Given the description of an element on the screen output the (x, y) to click on. 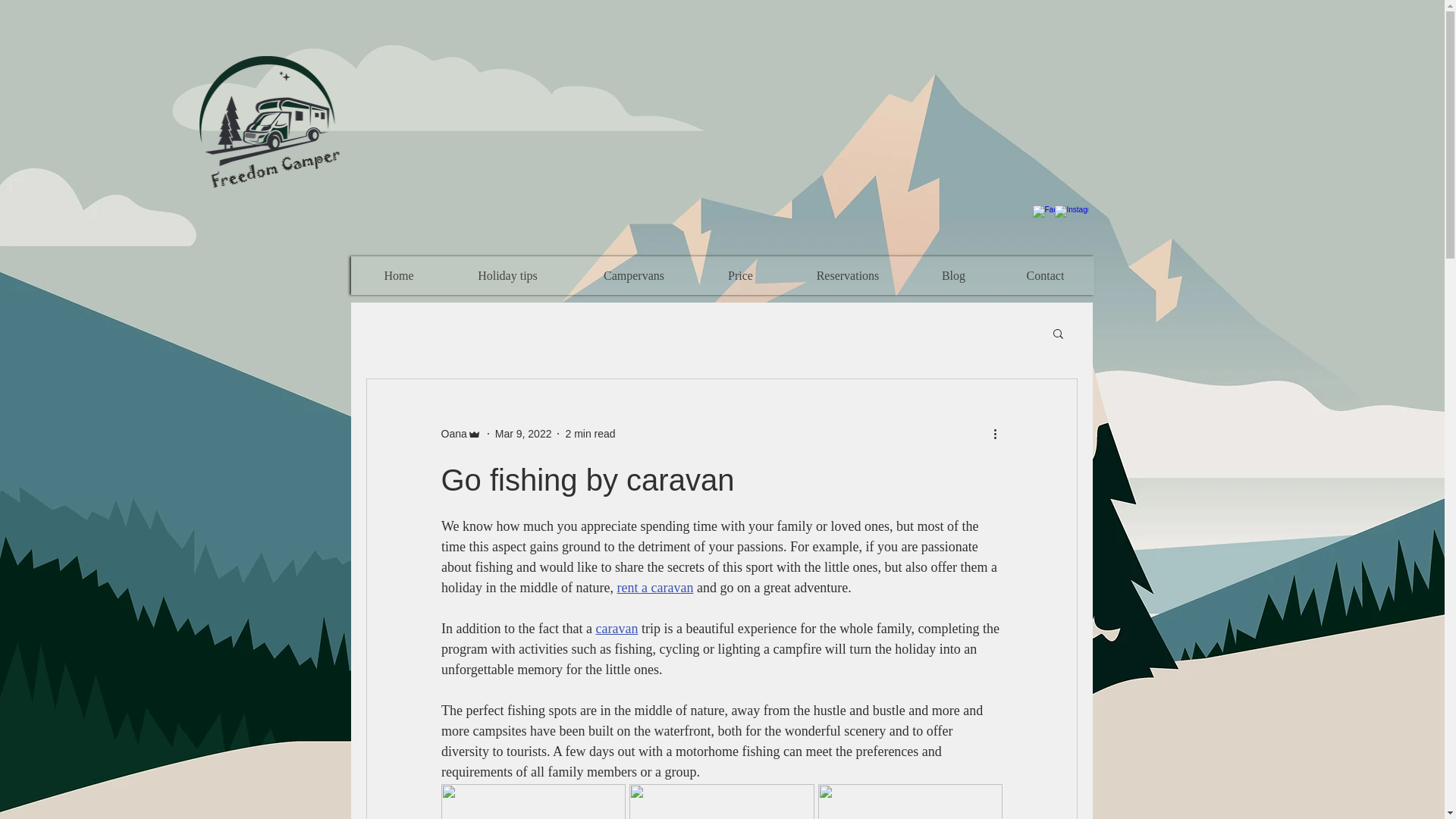
Mar 9, 2022 (523, 433)
Holiday tips (507, 275)
Price (739, 275)
caravan (616, 628)
Oana (454, 433)
2 min read (589, 433)
Campervans (633, 275)
Reservations (848, 275)
Home (399, 275)
Contact (1044, 275)
Blog (953, 275)
rent a caravan (654, 587)
